Given the description of an element on the screen output the (x, y) to click on. 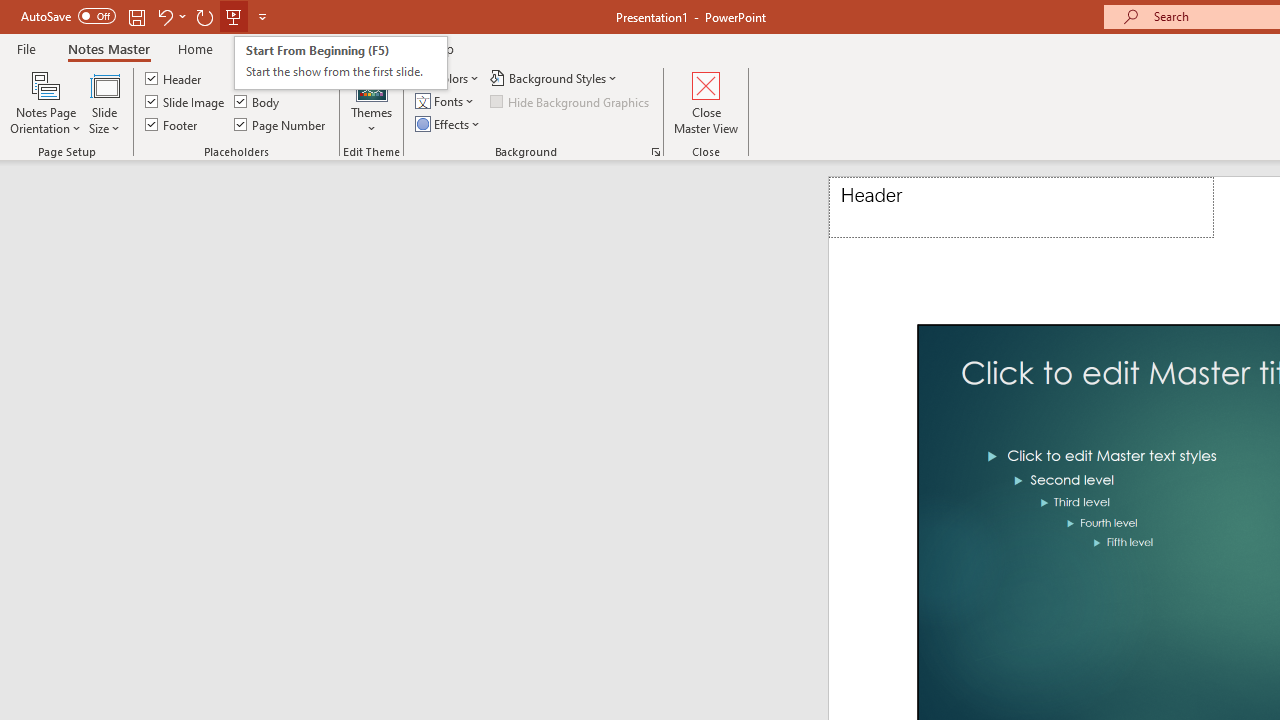
Background Styles (555, 78)
Header (1021, 207)
Close Master View (706, 102)
Slide Size (104, 102)
Header (174, 78)
Hide Background Graphics (570, 101)
Fonts (446, 101)
Notes Master (108, 48)
